Given the description of an element on the screen output the (x, y) to click on. 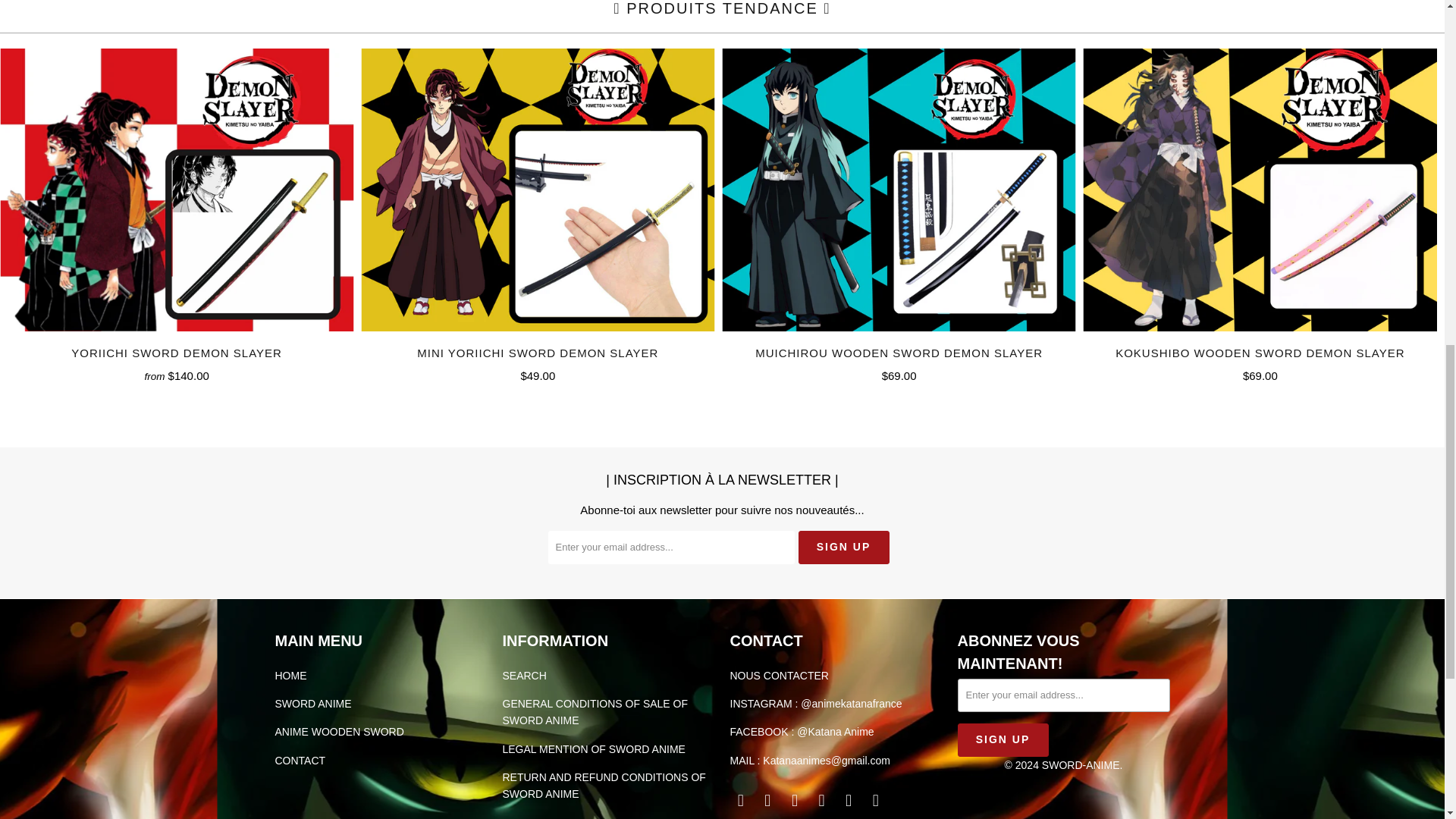
Sign Up (842, 547)
sword-anime on Instagram (821, 800)
sword-anime on Pinterest (795, 800)
sword-anime on YouTube (767, 800)
sword-anime on Snapchat (849, 800)
Email sword-anime (875, 800)
sword-anime on Facebook (740, 800)
Sign Up (1002, 739)
